Given the description of an element on the screen output the (x, y) to click on. 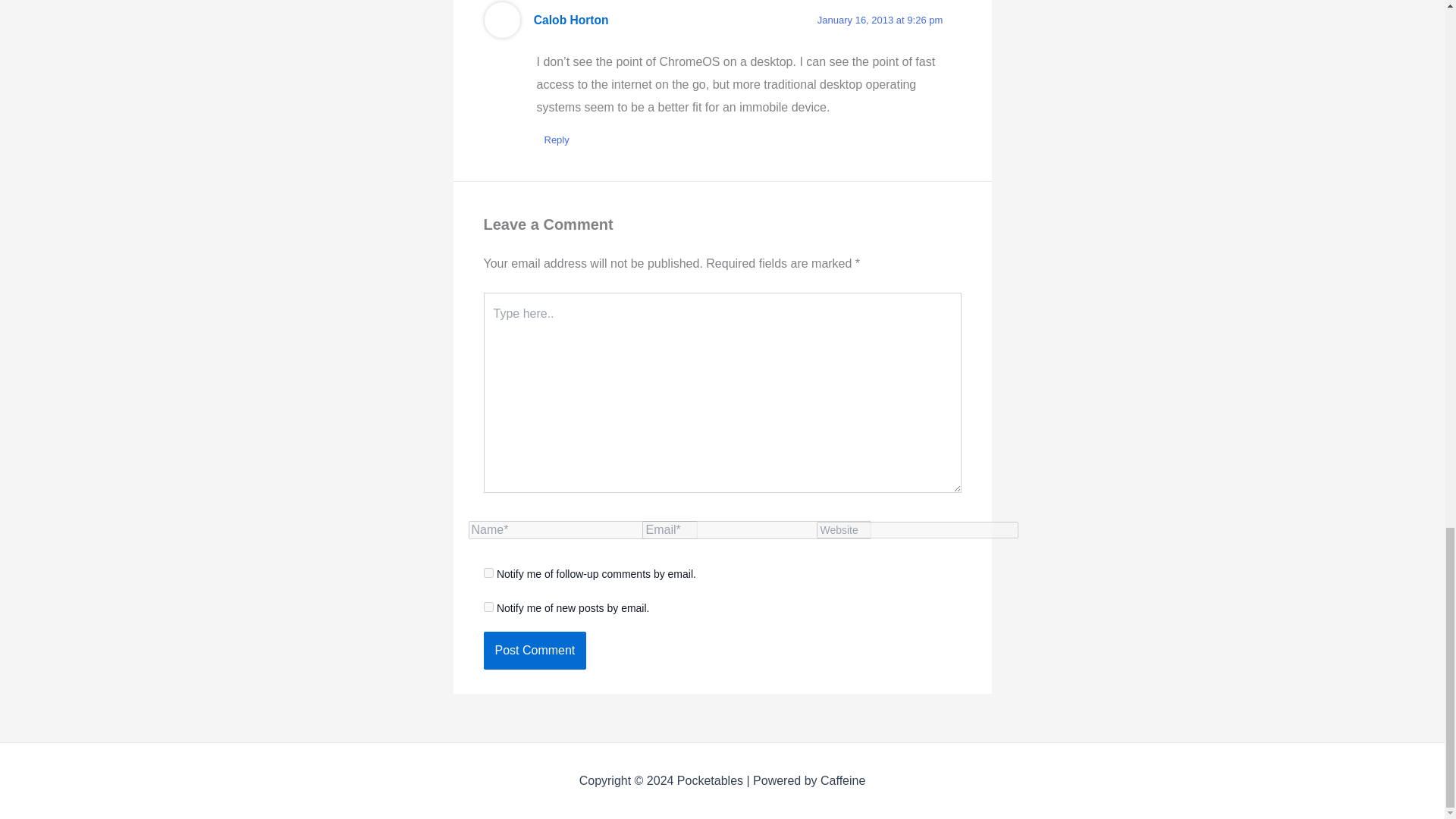
Post Comment (534, 650)
subscribe (488, 606)
subscribe (488, 573)
